Given the description of an element on the screen output the (x, y) to click on. 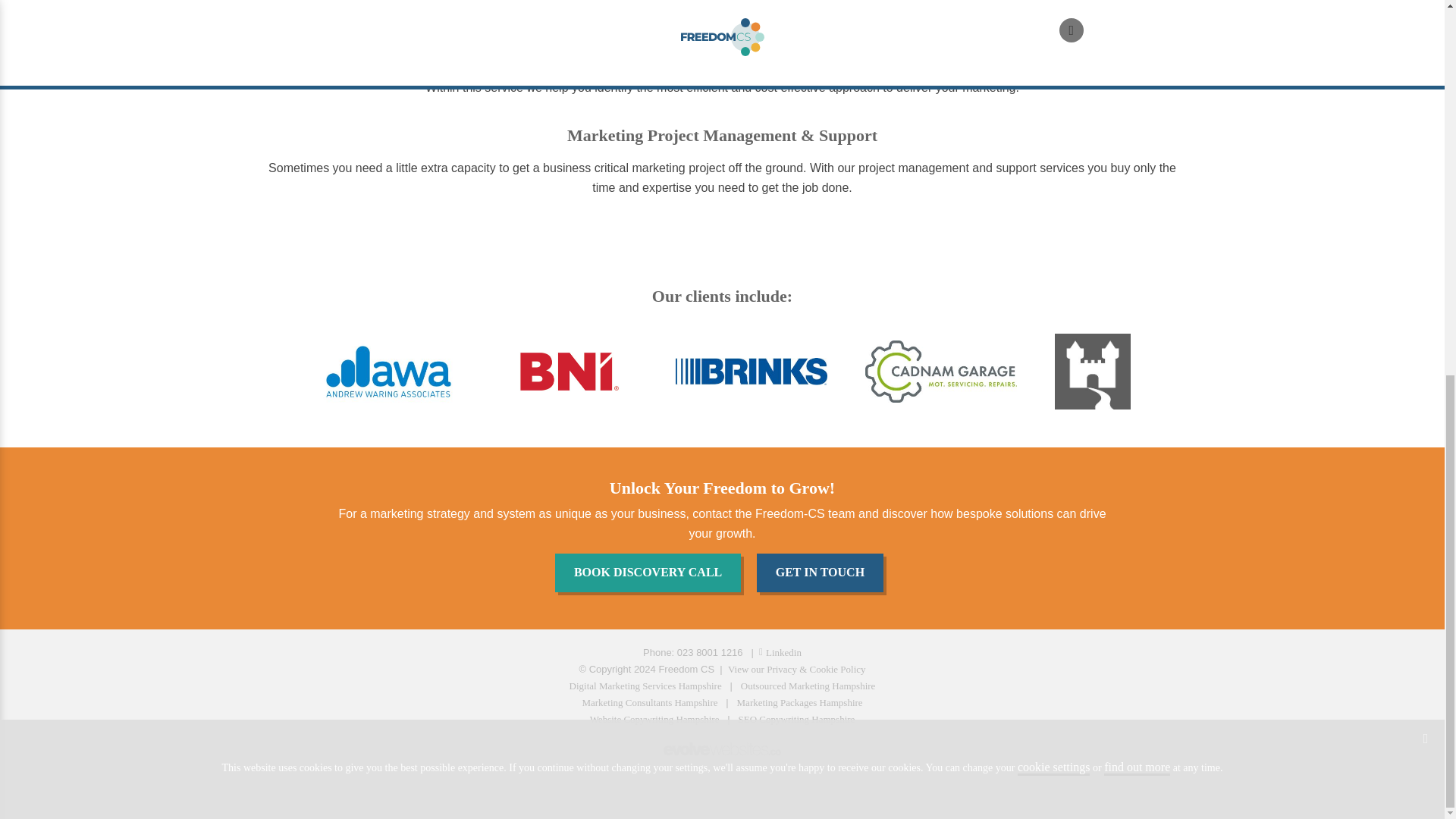
Digital Marketing Services Hampshire (645, 685)
Outsourced Marketing Hampshire (808, 685)
GET IN TOUCH (823, 575)
Linkedin (780, 652)
BOOK DISCOVERY CALL (650, 575)
Marketing Consultants Hampshire (648, 702)
